Given the description of an element on the screen output the (x, y) to click on. 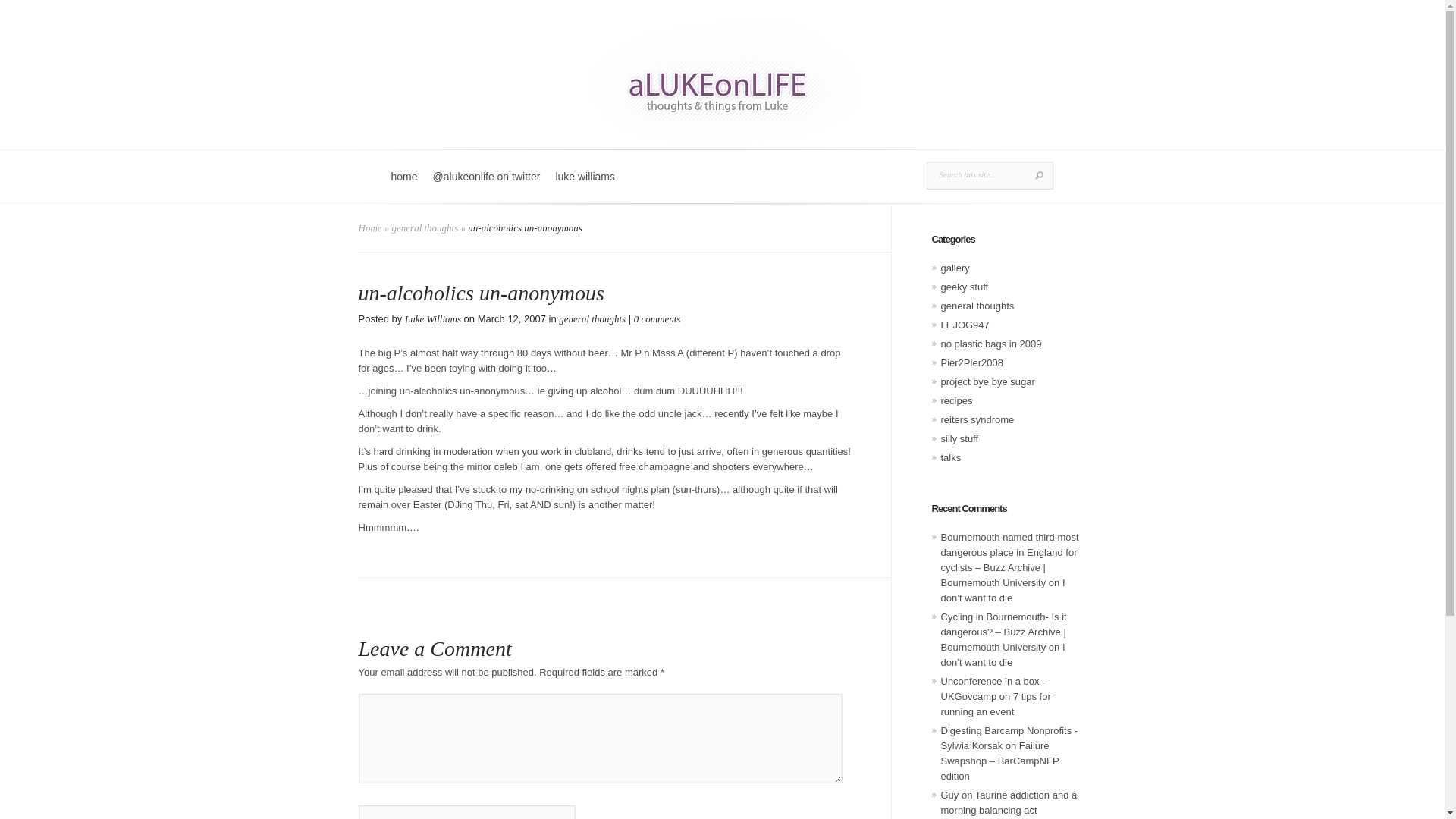
reiters syndrome (976, 419)
no plastic bags in 2009 (990, 343)
Taurine addiction and a morning balancing act (1008, 802)
0 comments (657, 318)
silly stuff (959, 438)
7 tips for running an event (994, 704)
recipes (956, 400)
general thoughts (424, 227)
Home (369, 227)
talks (950, 457)
luke williams (585, 185)
geeky stuff (964, 286)
LEJOG947 (964, 324)
Digesting Barcamp Nonprofits - Sylwia Korsak (1008, 737)
Search this site... (979, 174)
